Given the description of an element on the screen output the (x, y) to click on. 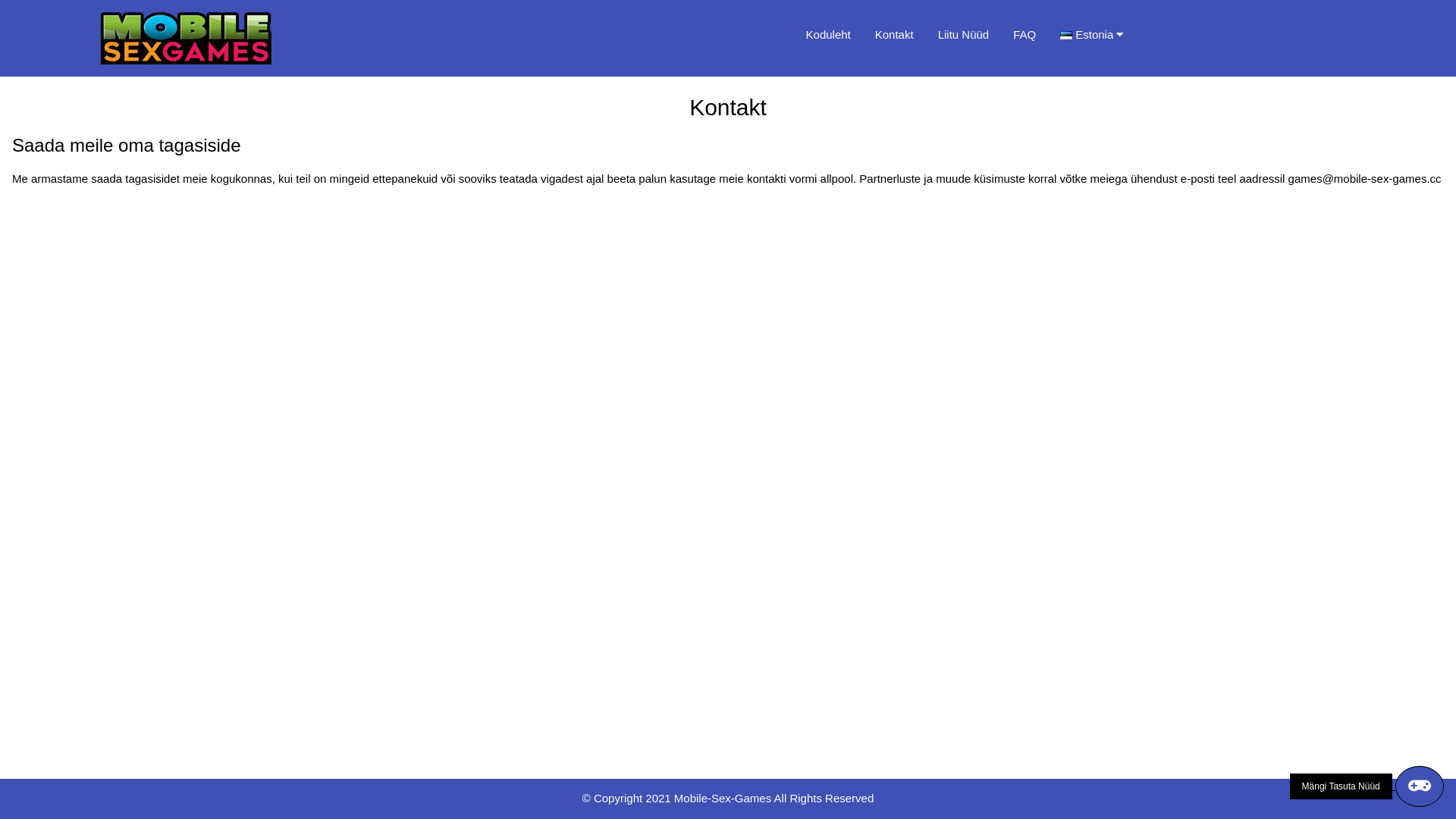
Koduleht Element type: text (827, 35)
FAQ Element type: text (1024, 35)
Kontakt Element type: text (893, 35)
Estonia Element type: text (1097, 35)
